Given the description of an element on the screen output the (x, y) to click on. 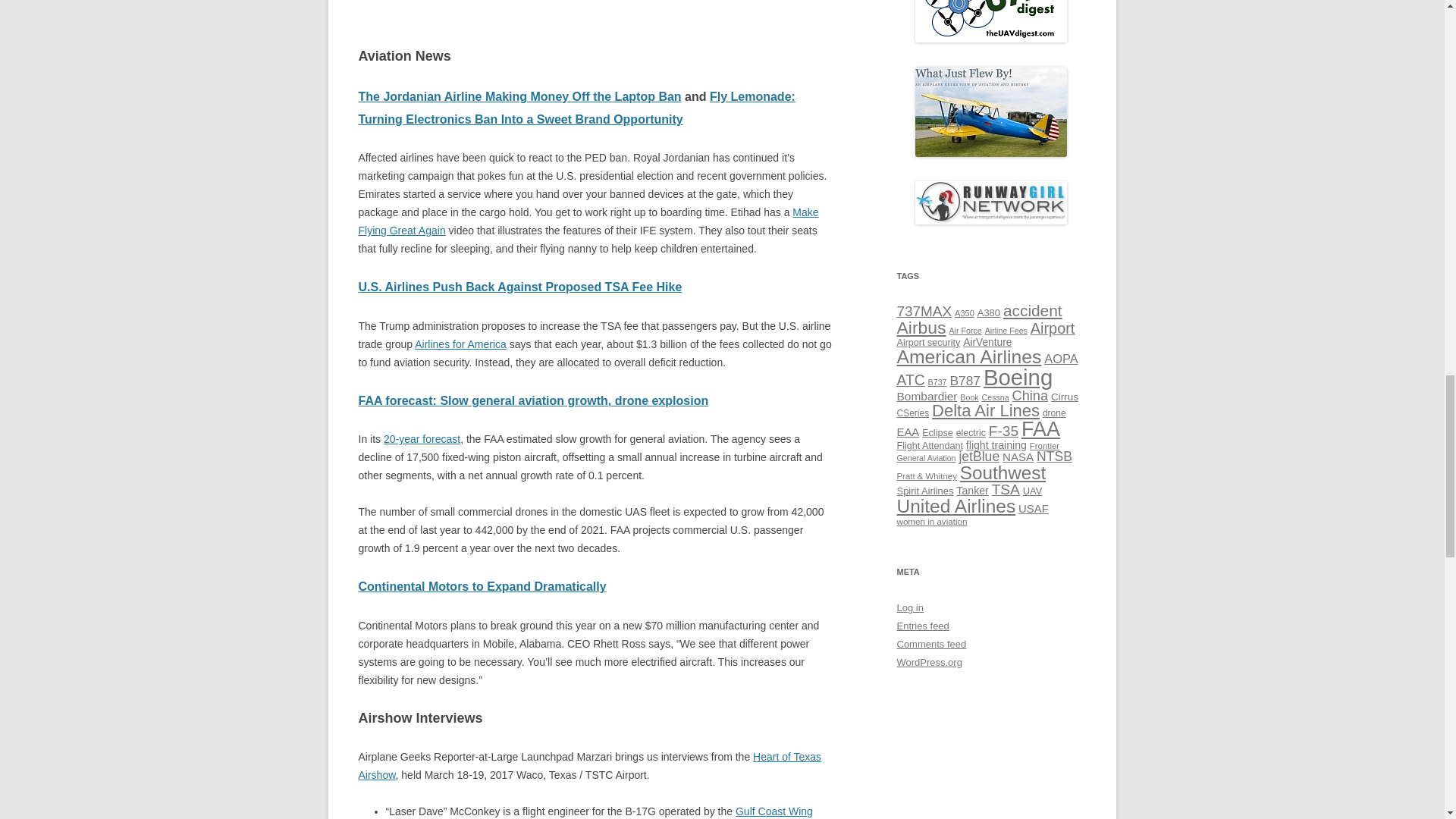
Airlines for America (460, 344)
FAA forecast: Slow general aviation growth, drone explosion (532, 400)
Heart of Texas Airshow (589, 766)
20-year forecast (422, 439)
Continental Motors to Expand Dramatically (481, 585)
The Jordanian Airline Making Money Off the Laptop Ban (519, 96)
U.S. Airlines Push Back Against Proposed TSA Fee Hike (519, 286)
Make Flying Great Again (588, 221)
Gulf Coast Wing (773, 811)
